Given the description of an element on the screen output the (x, y) to click on. 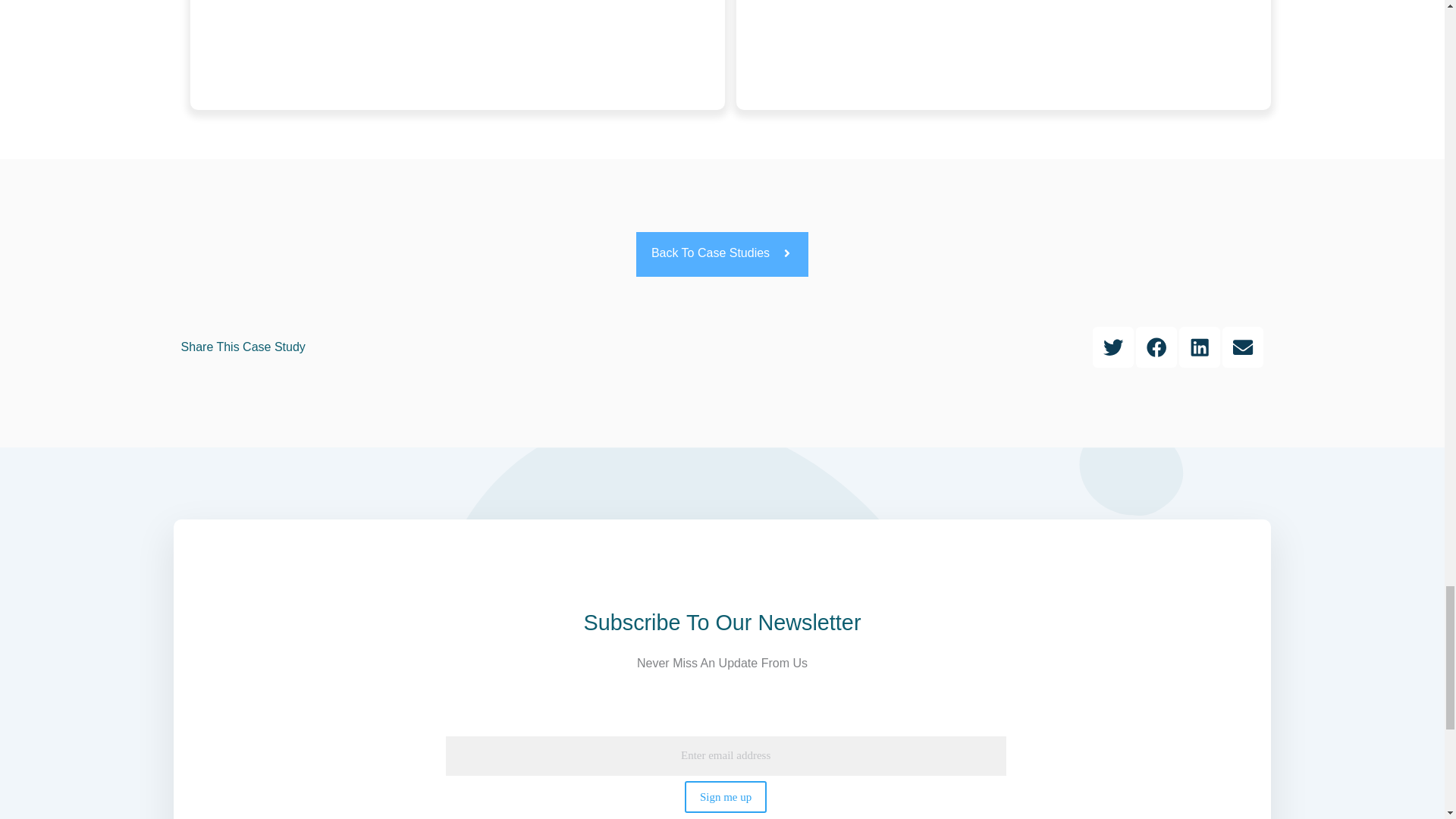
Back To Case Studies (722, 253)
Sign me up (725, 797)
Sign me up (725, 797)
